Given the description of an element on the screen output the (x, y) to click on. 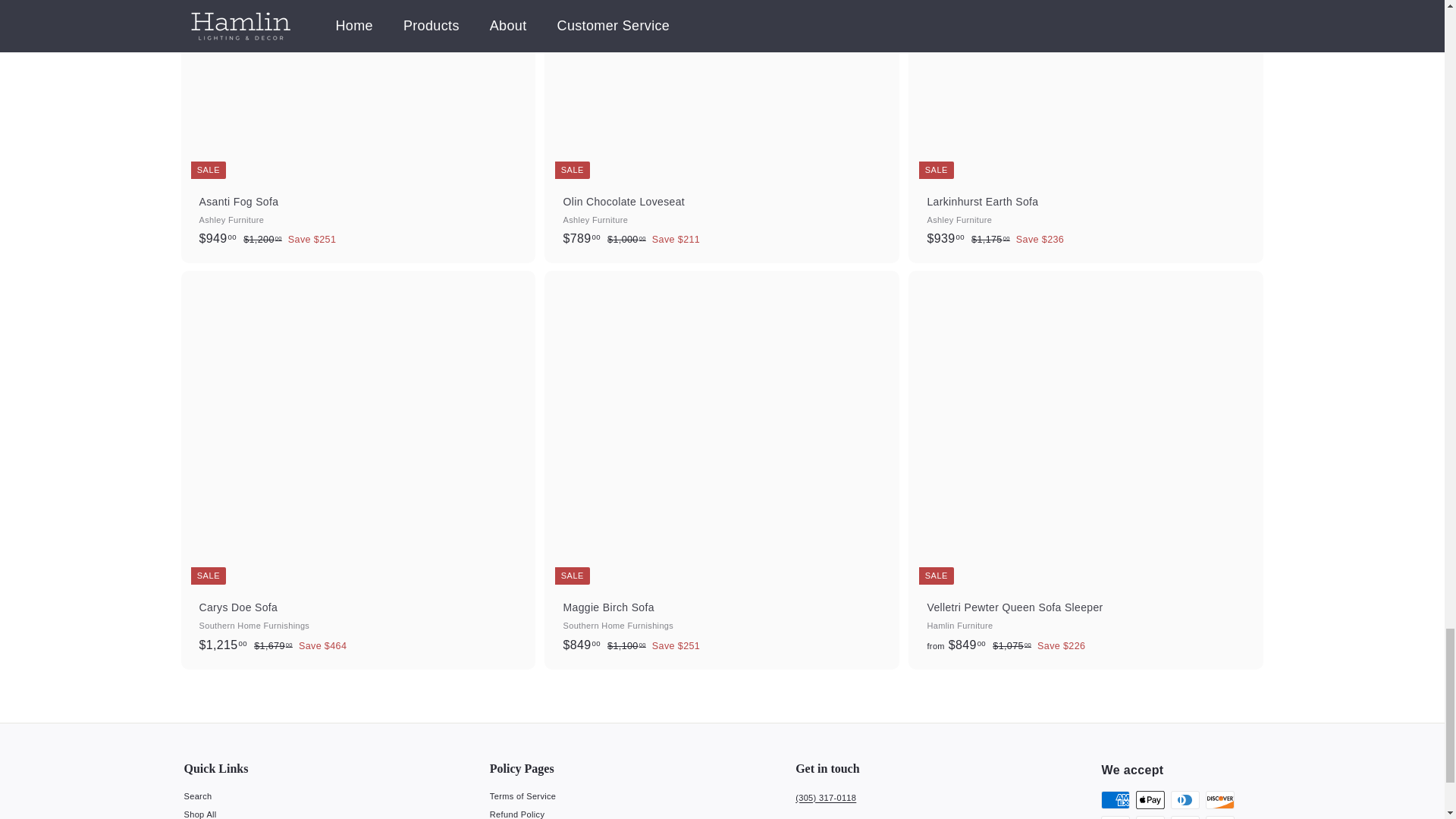
Apple Pay (1149, 800)
American Express (1114, 800)
PayPal (1219, 817)
Discover (1219, 800)
Google Pay (1149, 817)
Meta Pay (1114, 817)
Diners Club (1184, 800)
Mastercard (1184, 817)
